Given the description of an element on the screen output the (x, y) to click on. 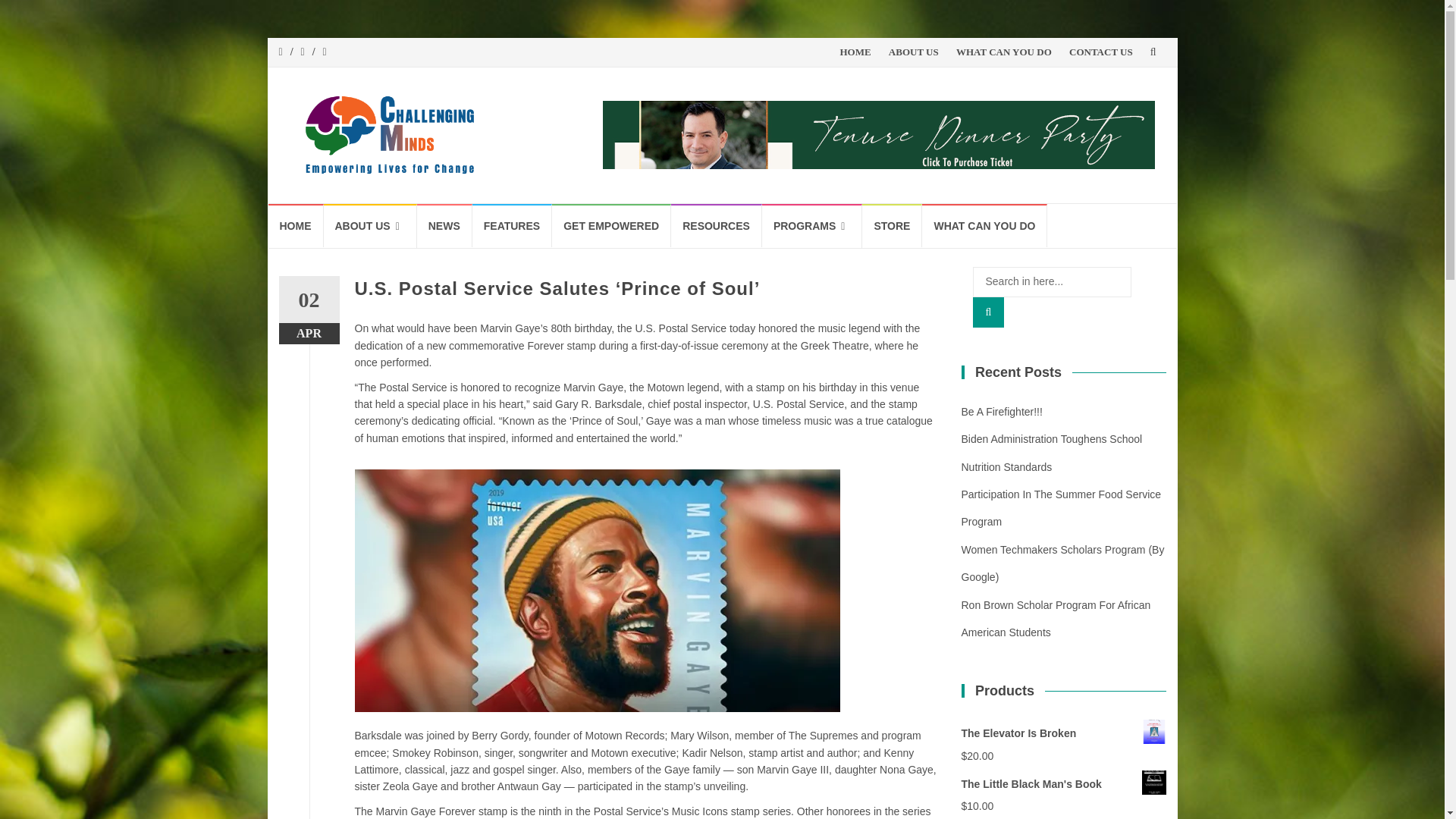
HOME (855, 51)
CONTACT US (1100, 51)
GET EMPOWERED (611, 225)
PROGRAMS (812, 225)
Search for: (1051, 281)
FEATURES (511, 225)
WHAT CAN YOU DO (1003, 51)
WHAT CAN YOU DO (983, 225)
STORE (891, 225)
RESOURCES (716, 225)
NEWS (443, 225)
HOME (295, 225)
